Given the description of an element on the screen output the (x, y) to click on. 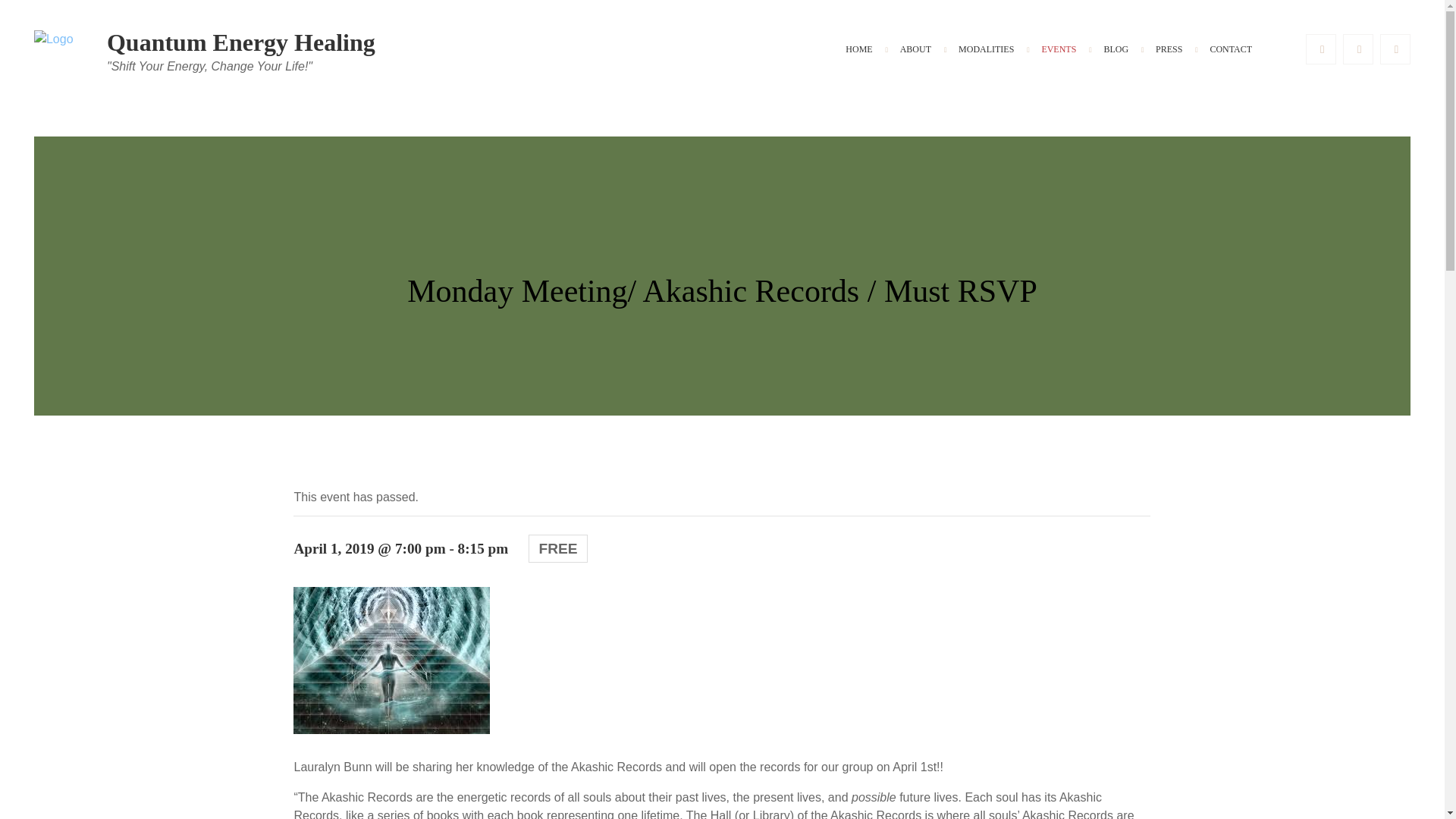
BLOG (1115, 49)
ABOUT (915, 49)
EVENTS (1058, 49)
CONTACT (1230, 49)
PRESS (1168, 49)
MODALITIES (985, 49)
HOME (858, 49)
